Given the description of an element on the screen output the (x, y) to click on. 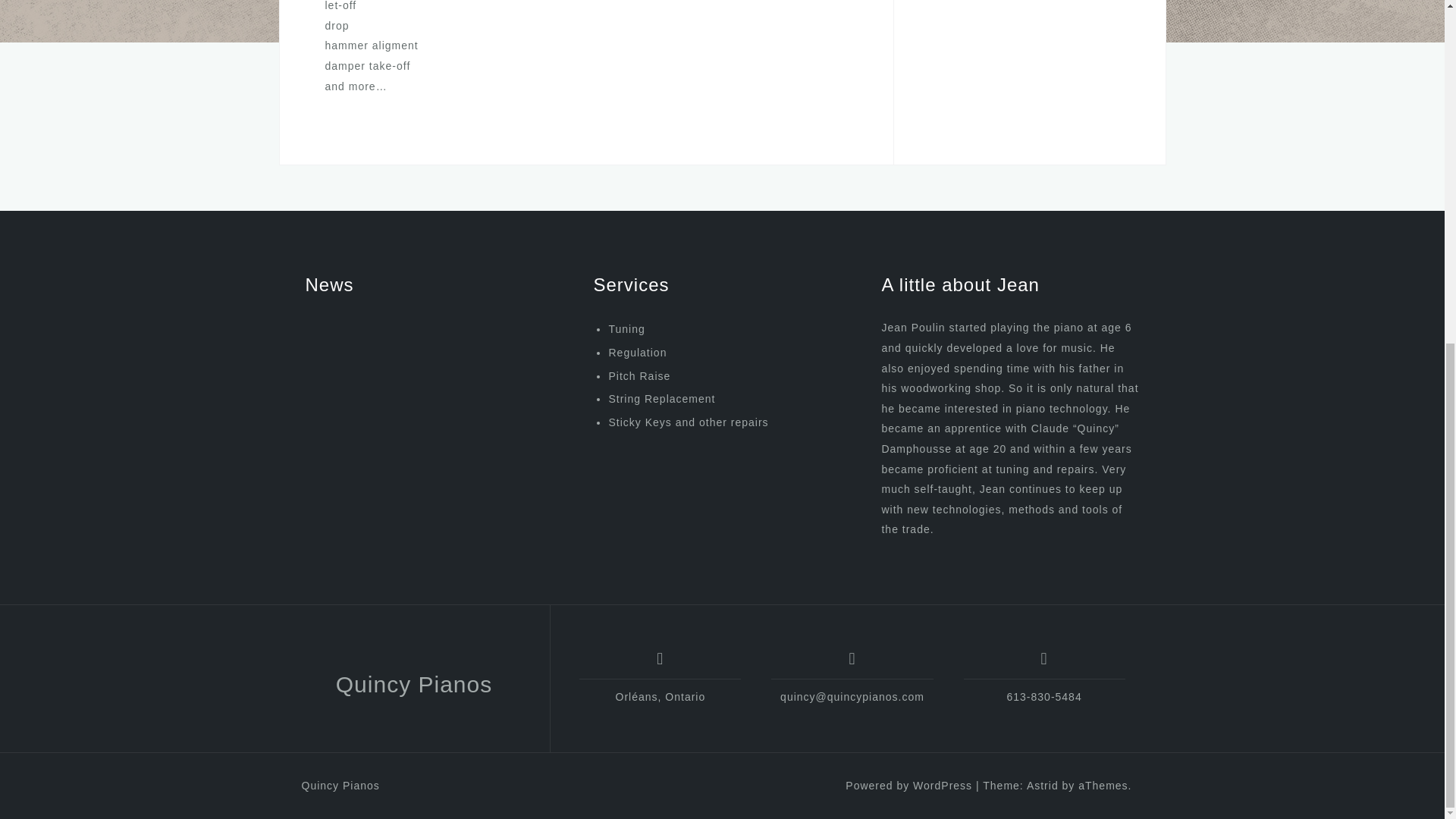
Quincy Pianos (414, 683)
Pitch Raise (638, 376)
String Replacement (661, 398)
Regulation (637, 352)
Astrid (1042, 785)
Sticky Keys and other repairs (688, 422)
Quincy Pianos (340, 785)
Powered by WordPress (908, 785)
Tuning (626, 328)
